Given the description of an element on the screen output the (x, y) to click on. 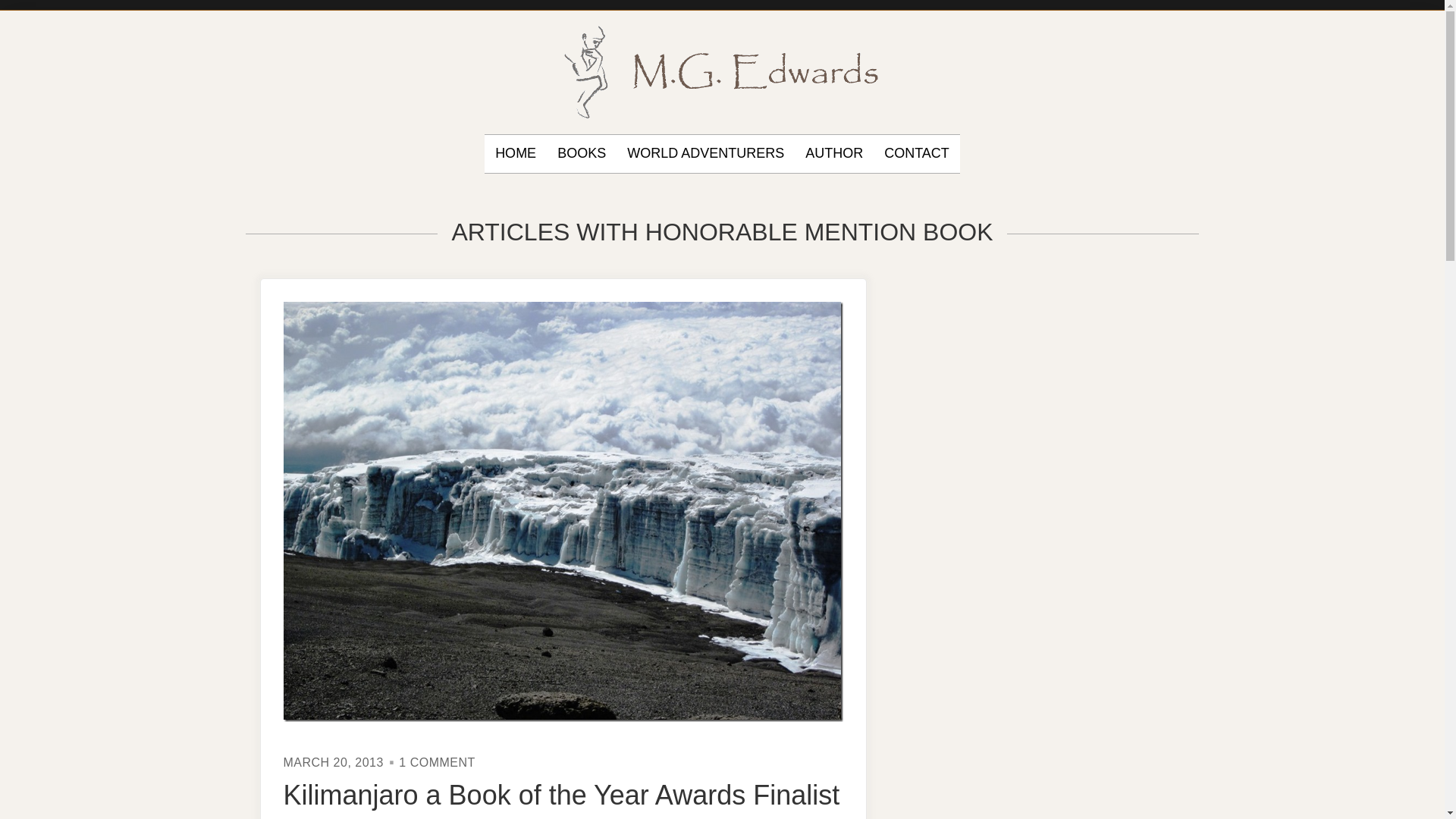
Kilimanjaro a Book of the Year Awards Finalist (561, 794)
WORLD ADVENTURERS (705, 153)
BOOKS (581, 153)
MARCH 20, 2013 (333, 762)
AUTHOR (437, 762)
HOME (834, 153)
CONTACT (515, 153)
